Given the description of an element on the screen output the (x, y) to click on. 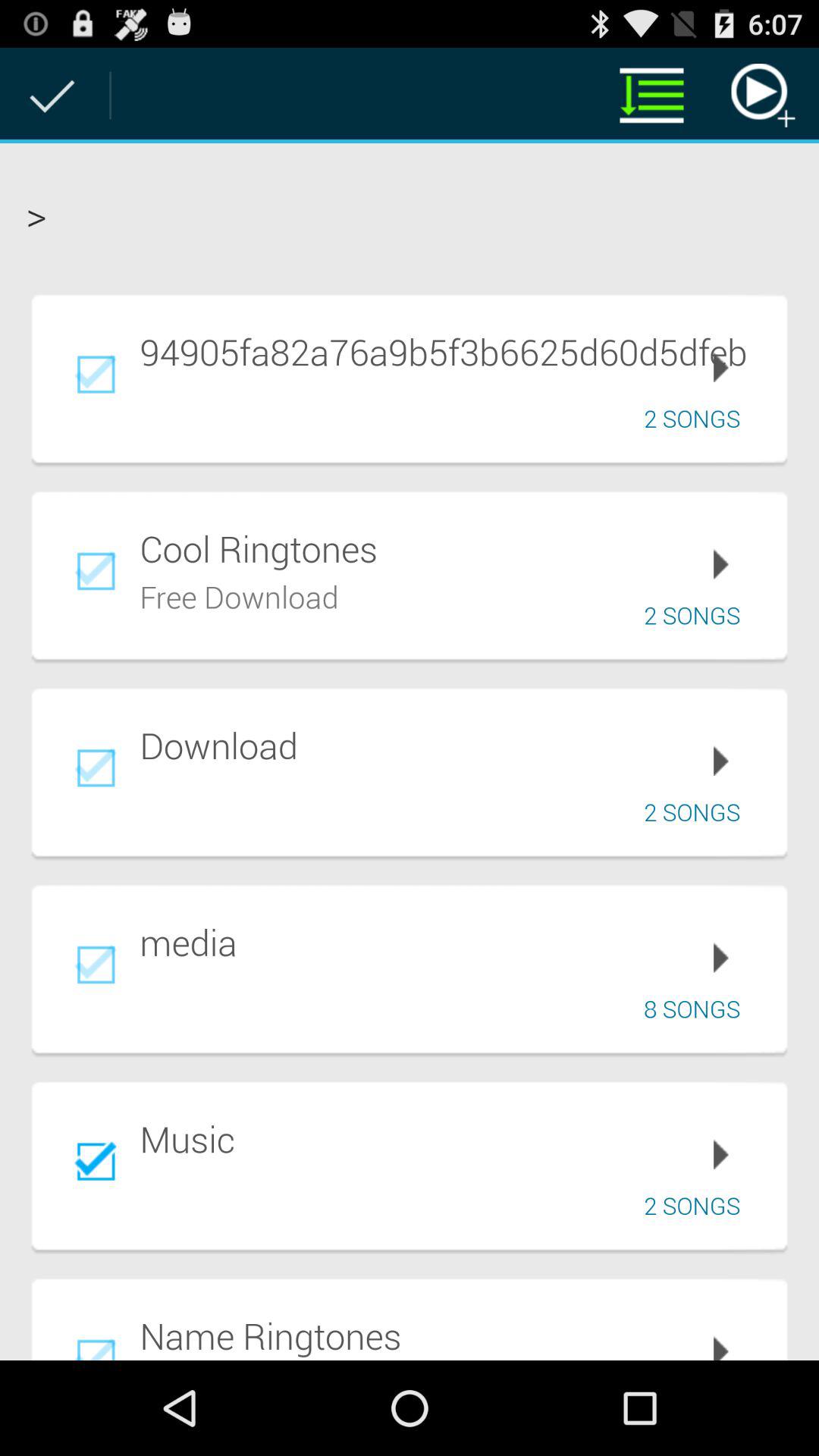
jump until cool ringtones (452, 548)
